Given the description of an element on the screen output the (x, y) to click on. 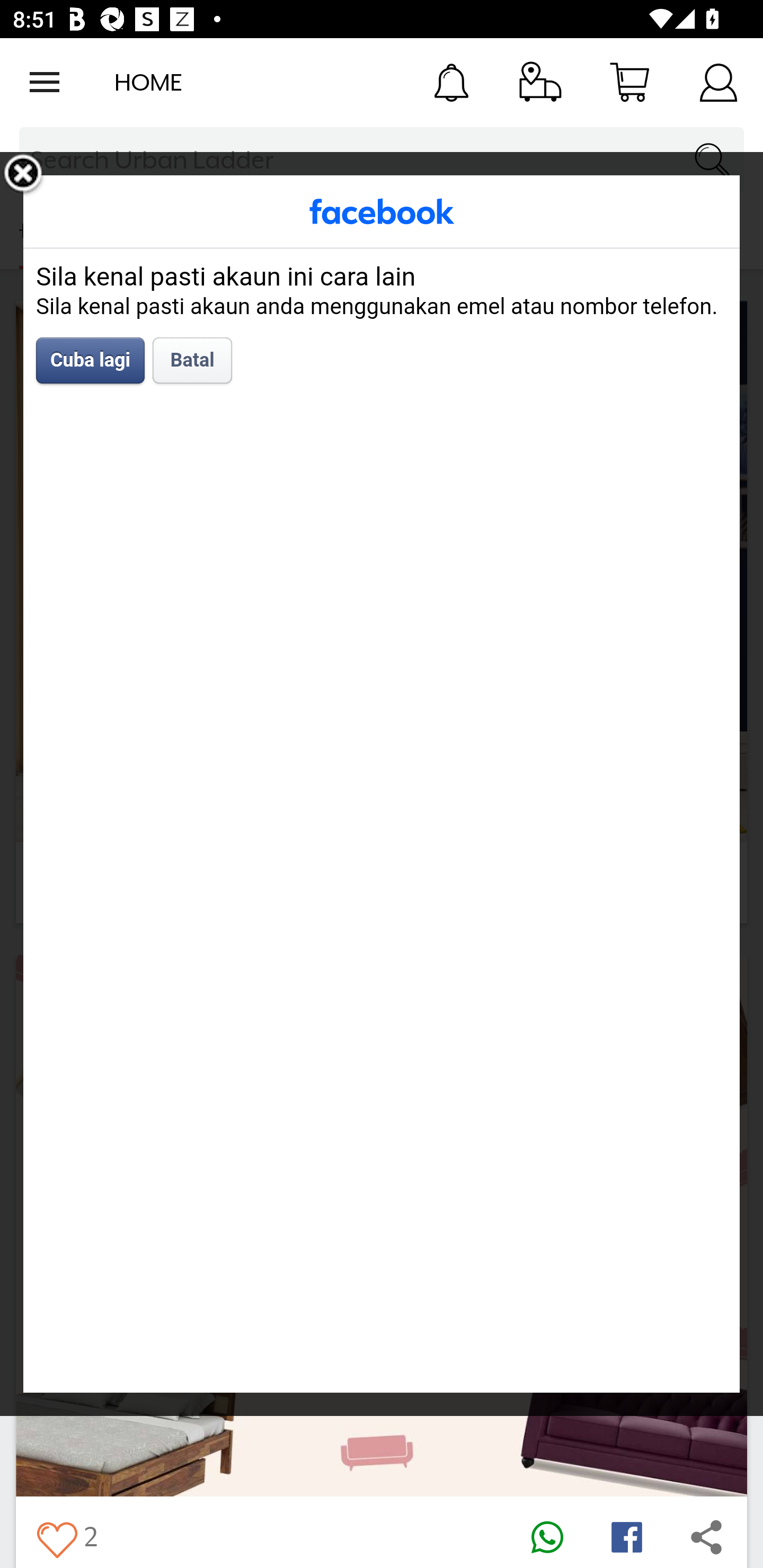
Facebook (381, 210)
Cuba lagi (90, 360)
Batal (192, 360)
